Given the description of an element on the screen output the (x, y) to click on. 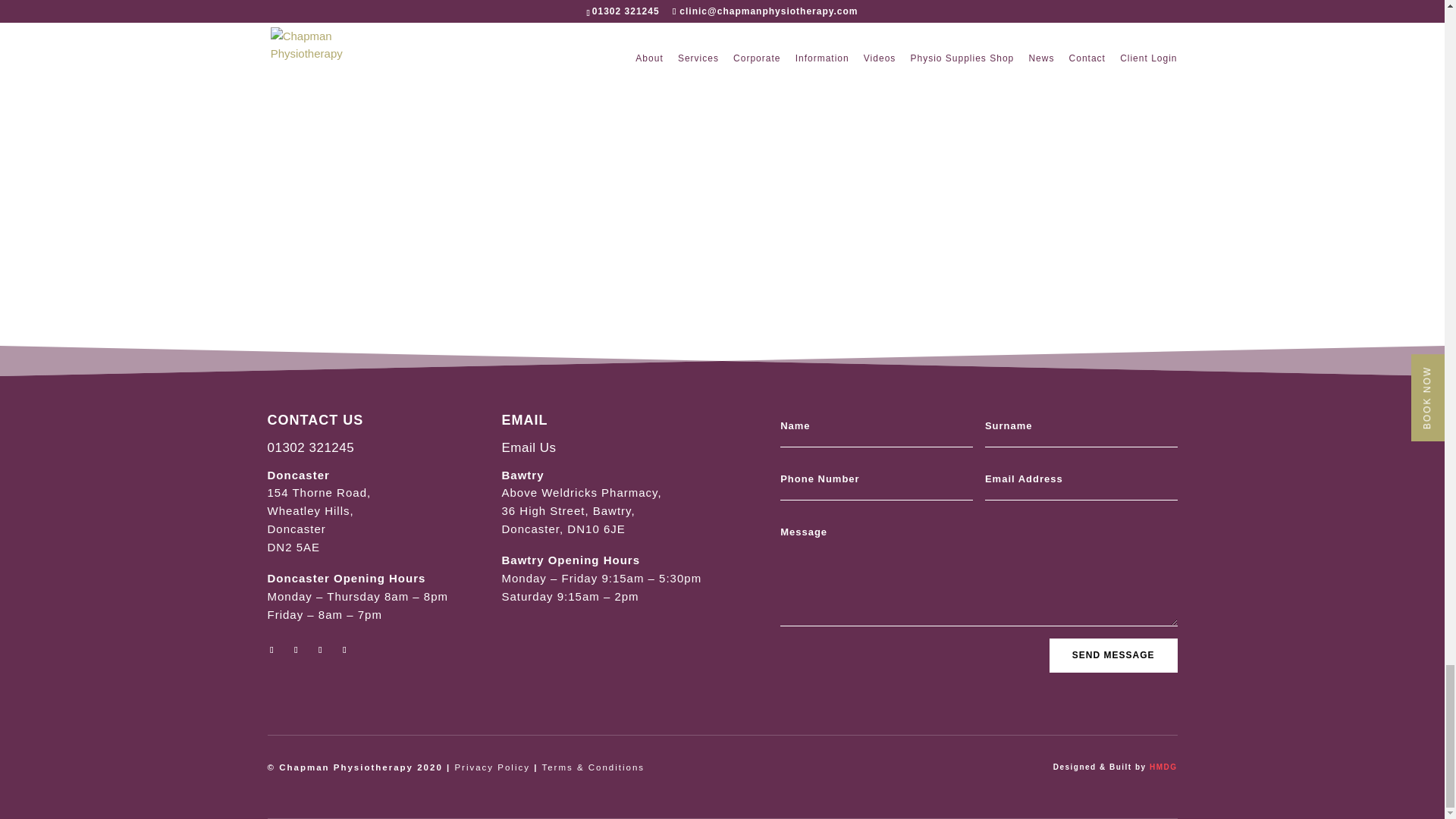
Follow on X (295, 649)
Follow on Facebook (271, 649)
Follow on Vimeo (320, 649)
Follow on Instagram (343, 649)
